Given the description of an element on the screen output the (x, y) to click on. 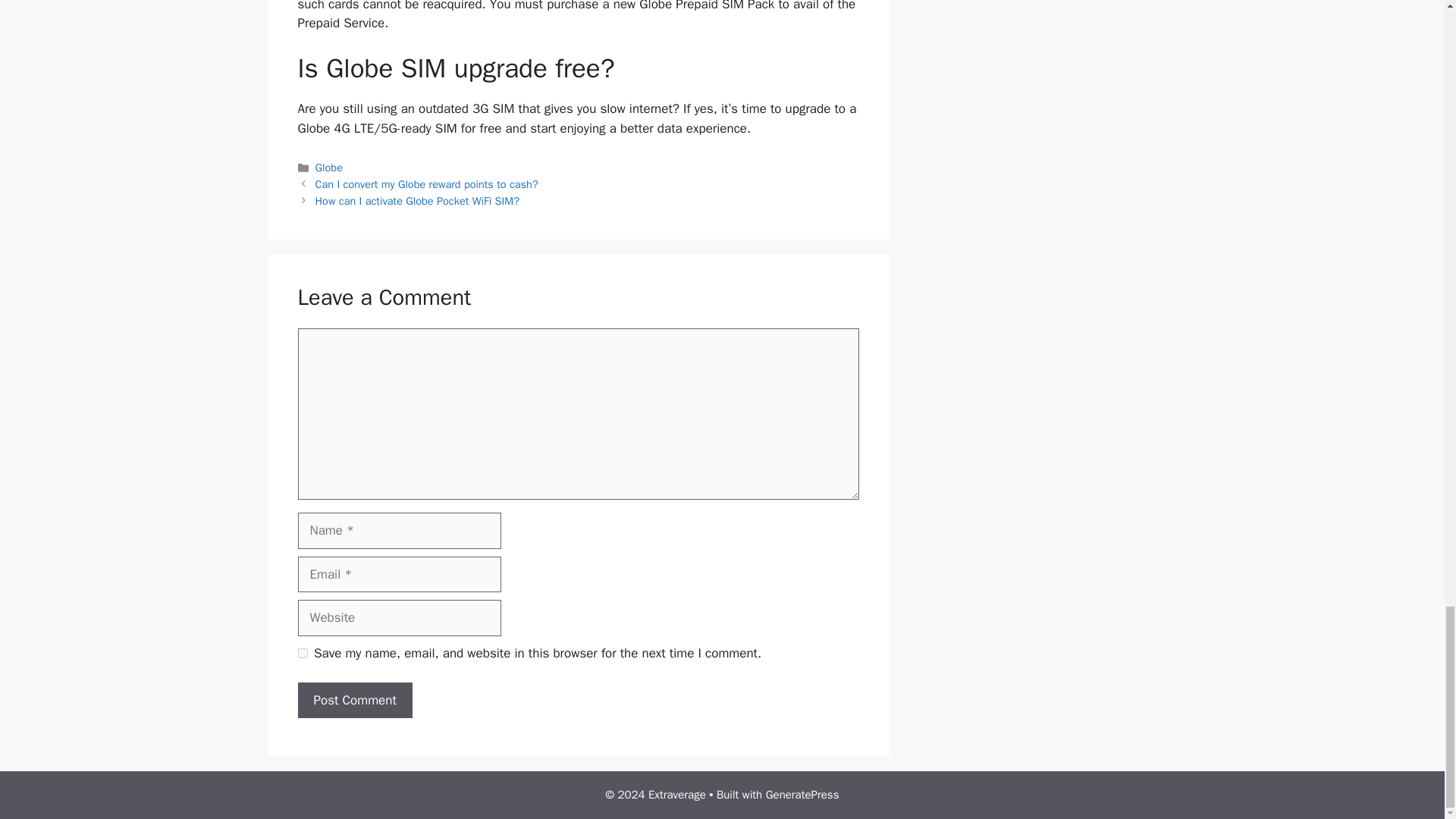
Can I convert my Globe reward points to cash? (426, 183)
Post Comment (354, 700)
Post Comment (354, 700)
Globe (328, 167)
How can I activate Globe Pocket WiFi SIM? (417, 201)
GeneratePress (802, 794)
yes (302, 653)
